Given the description of an element on the screen output the (x, y) to click on. 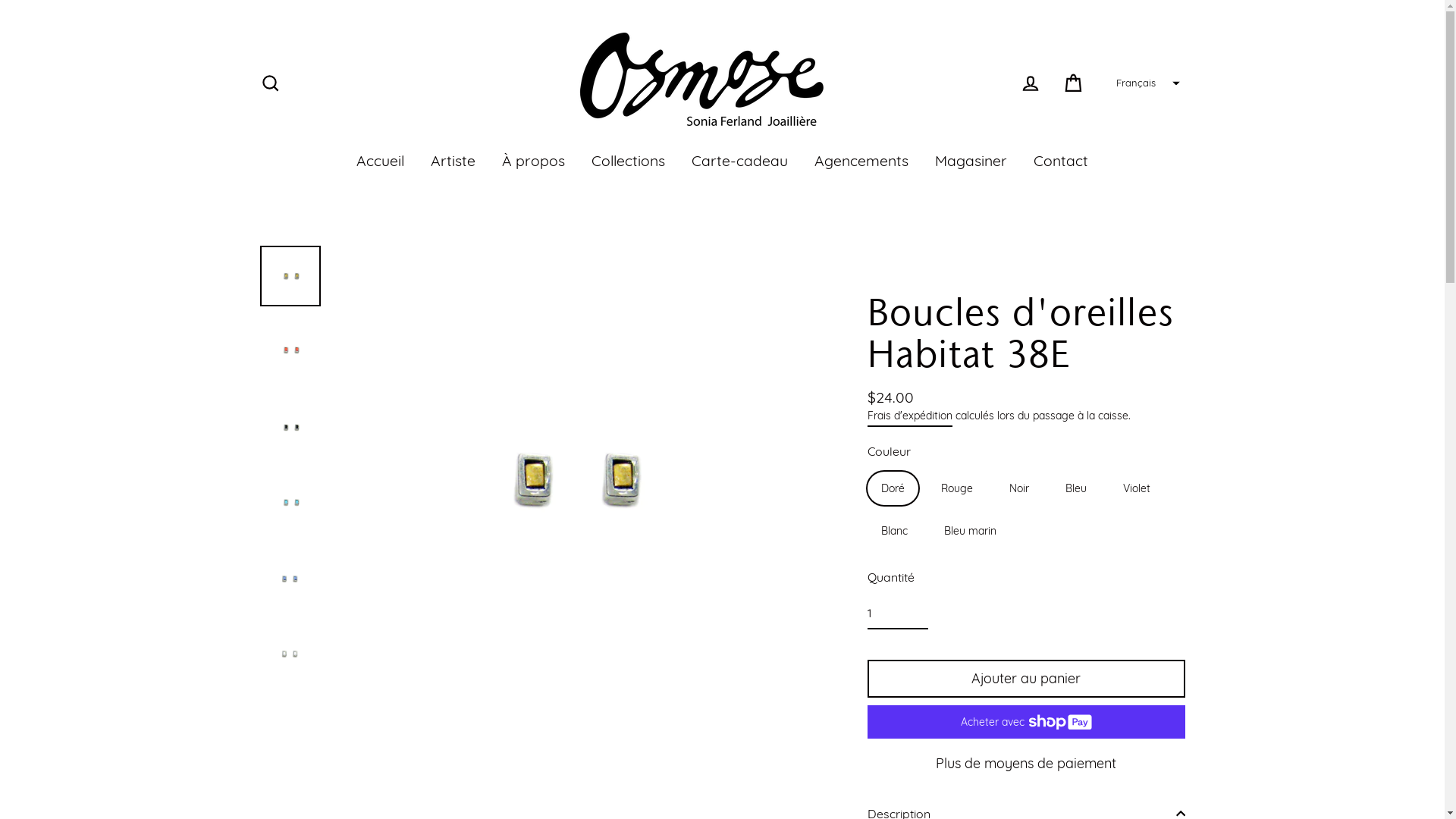
Carte-cadeau Element type: text (739, 160)
Accueil Element type: text (380, 160)
Agencements Element type: text (861, 160)
Rechercher Element type: text (269, 82)
Plus de moyens de paiement Element type: text (1026, 763)
Ajouter au panier Element type: text (1026, 678)
Collections Element type: text (628, 160)
Se connecter Element type: text (1029, 82)
Panier Element type: text (1073, 82)
Contact Element type: text (1060, 160)
Magasiner Element type: text (970, 160)
Artiste Element type: text (452, 160)
Passer au contenu Element type: text (0, 0)
